Given the description of an element on the screen output the (x, y) to click on. 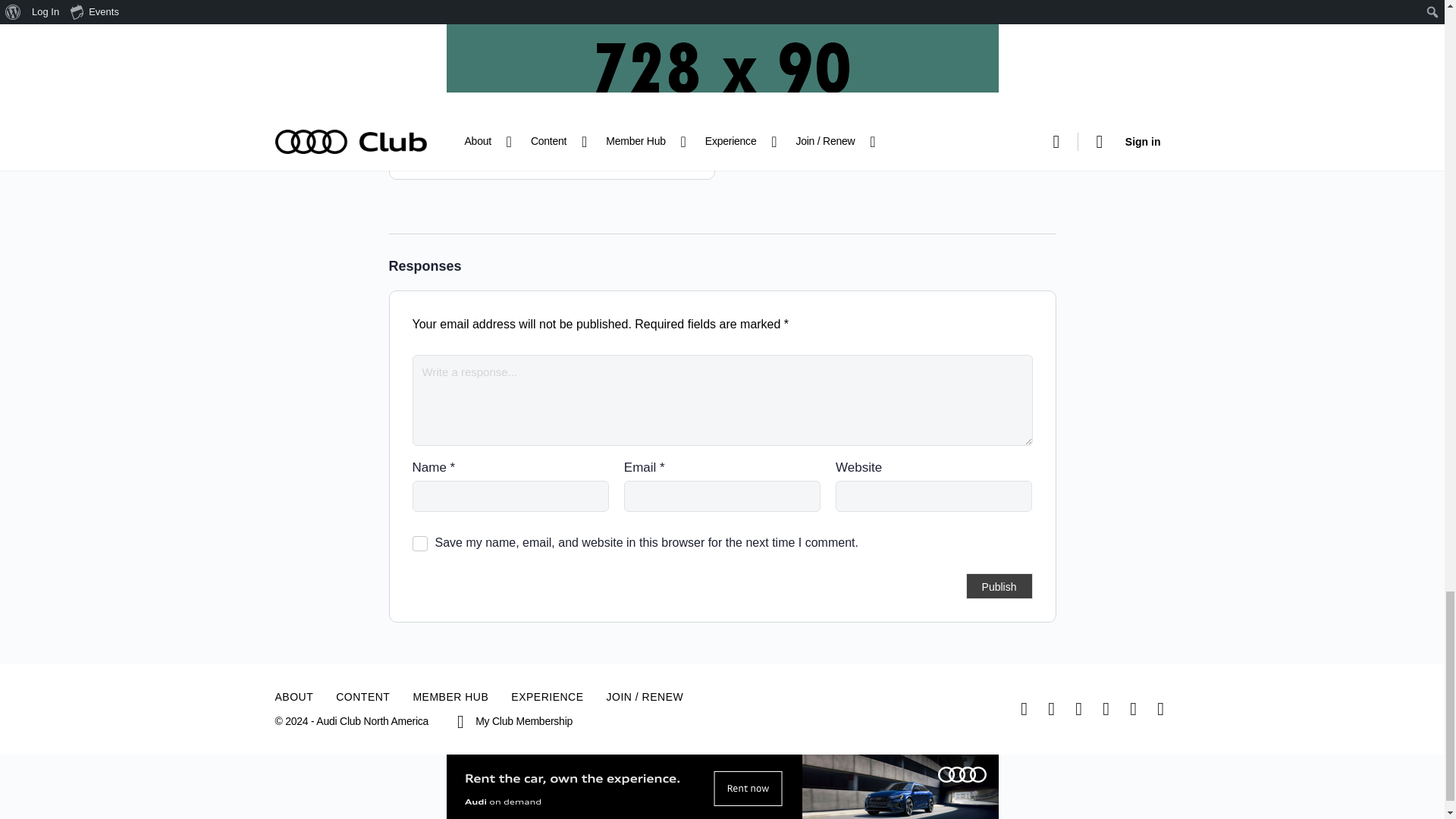
Publish (999, 585)
